Given the description of an element on the screen output the (x, y) to click on. 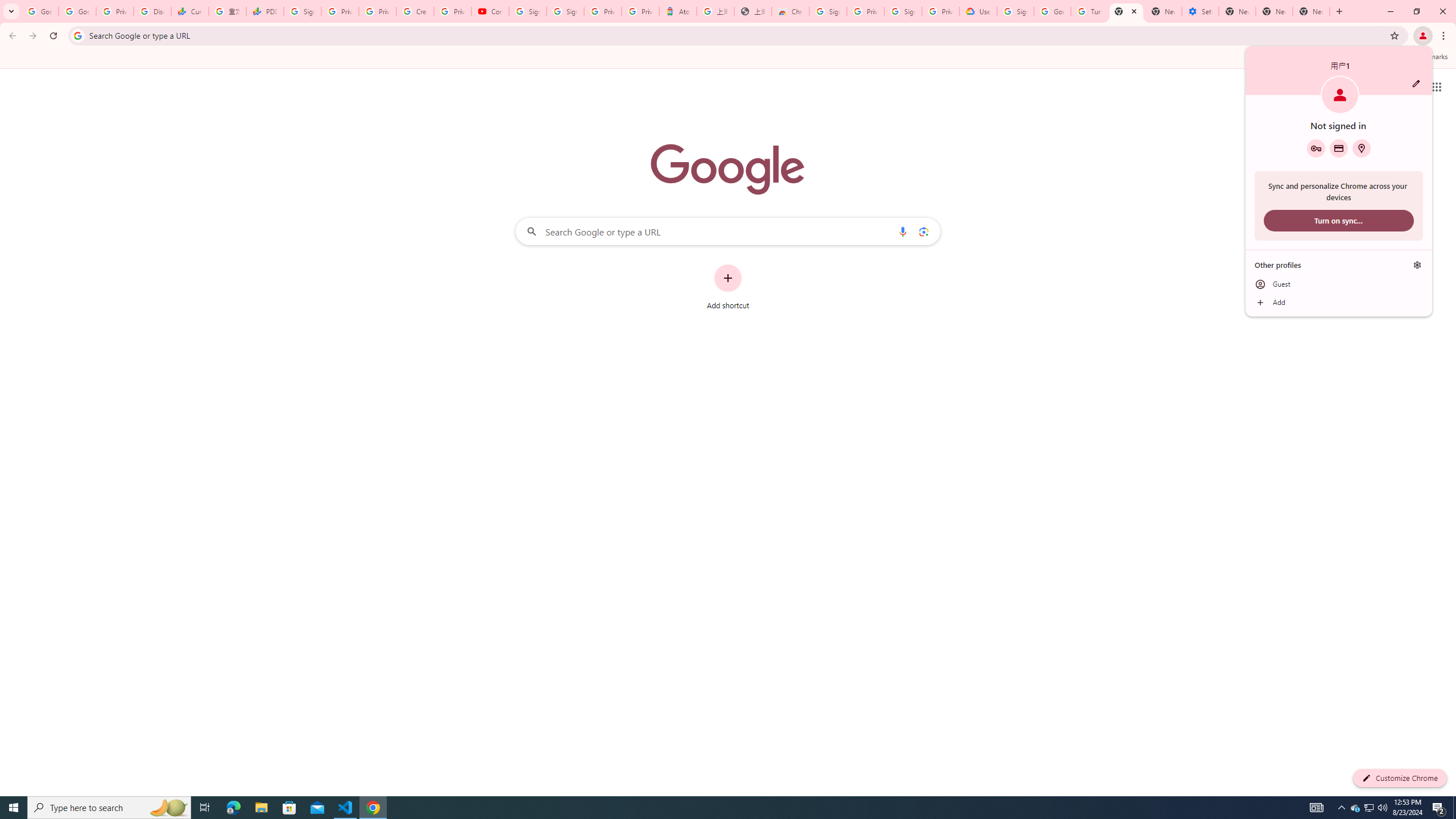
Sign in - Google Accounts (1015, 11)
Notification Chevron (1341, 807)
Add shortcut (727, 287)
Create your Google Account (415, 11)
Visual Studio Code - 1 running window (345, 807)
Type here to search (108, 807)
Content Creator Programs & Opportunities - YouTube Creators (489, 11)
Manage profiles (1417, 265)
